Given the description of an element on the screen output the (x, y) to click on. 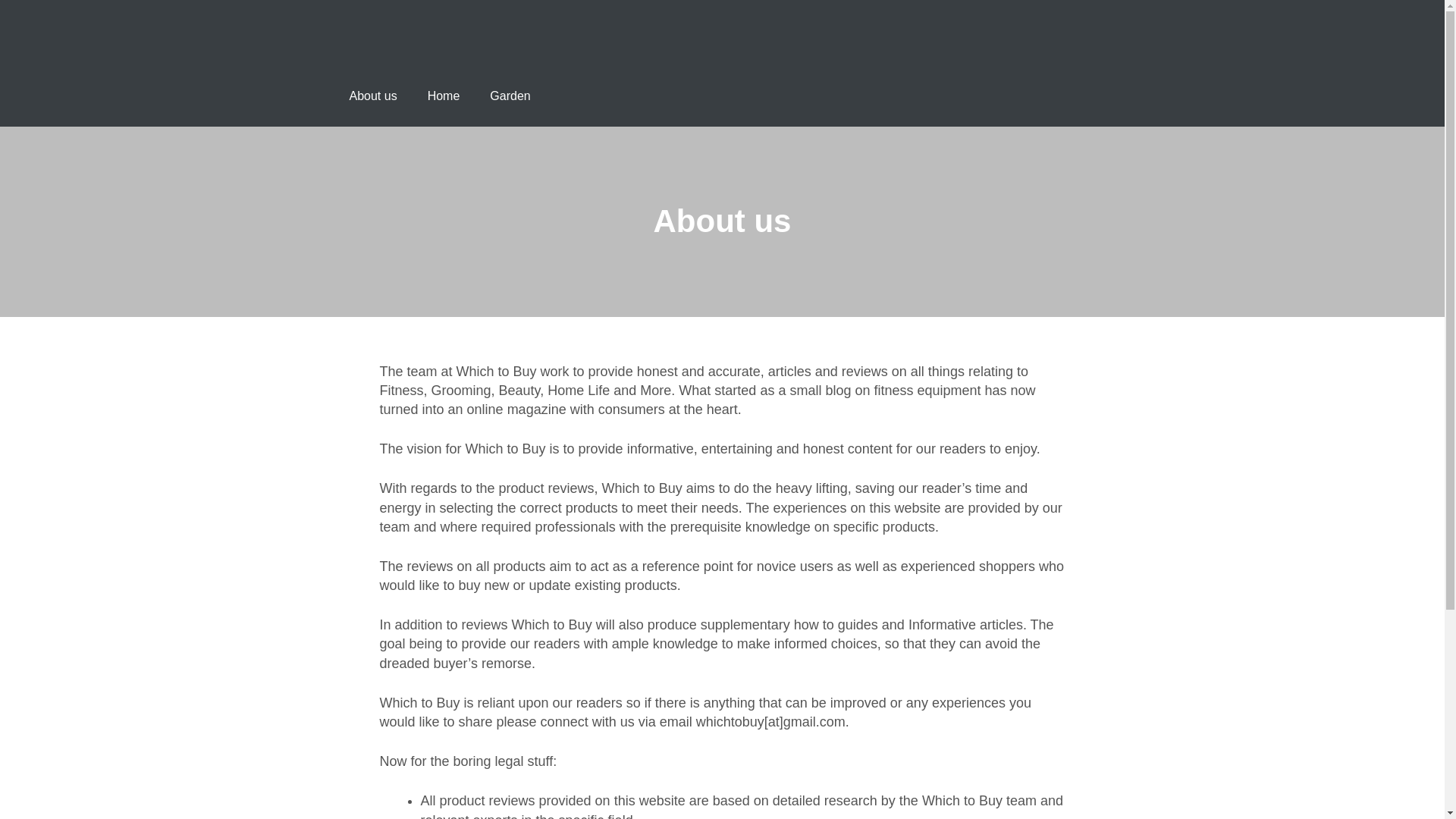
Which to buy? (408, 30)
Garden (509, 96)
Which to buy? (408, 55)
About us (372, 96)
Home (444, 96)
